Given the description of an element on the screen output the (x, y) to click on. 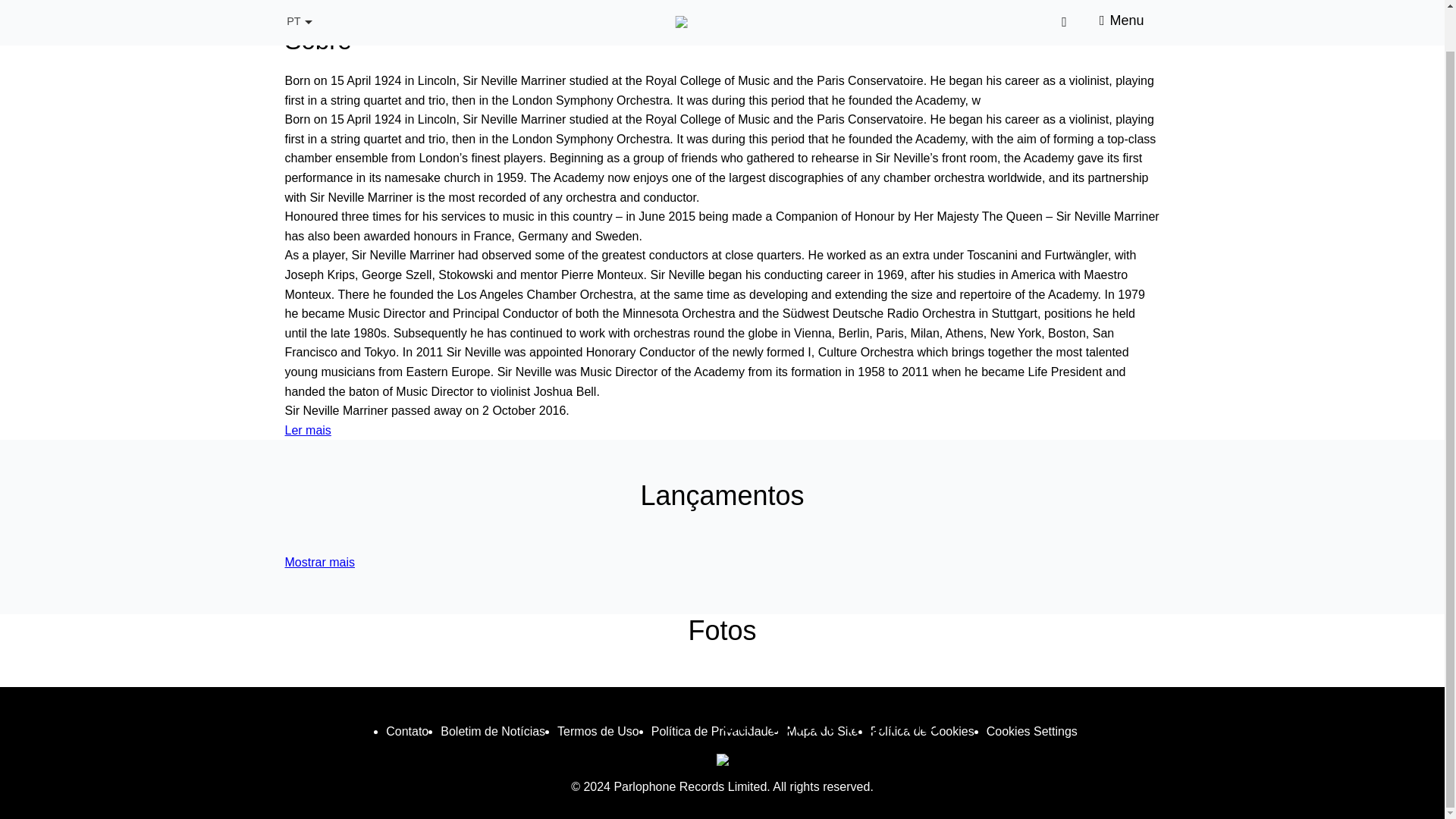
Resumo (307, 11)
Ler mais (308, 430)
